Given the description of an element on the screen output the (x, y) to click on. 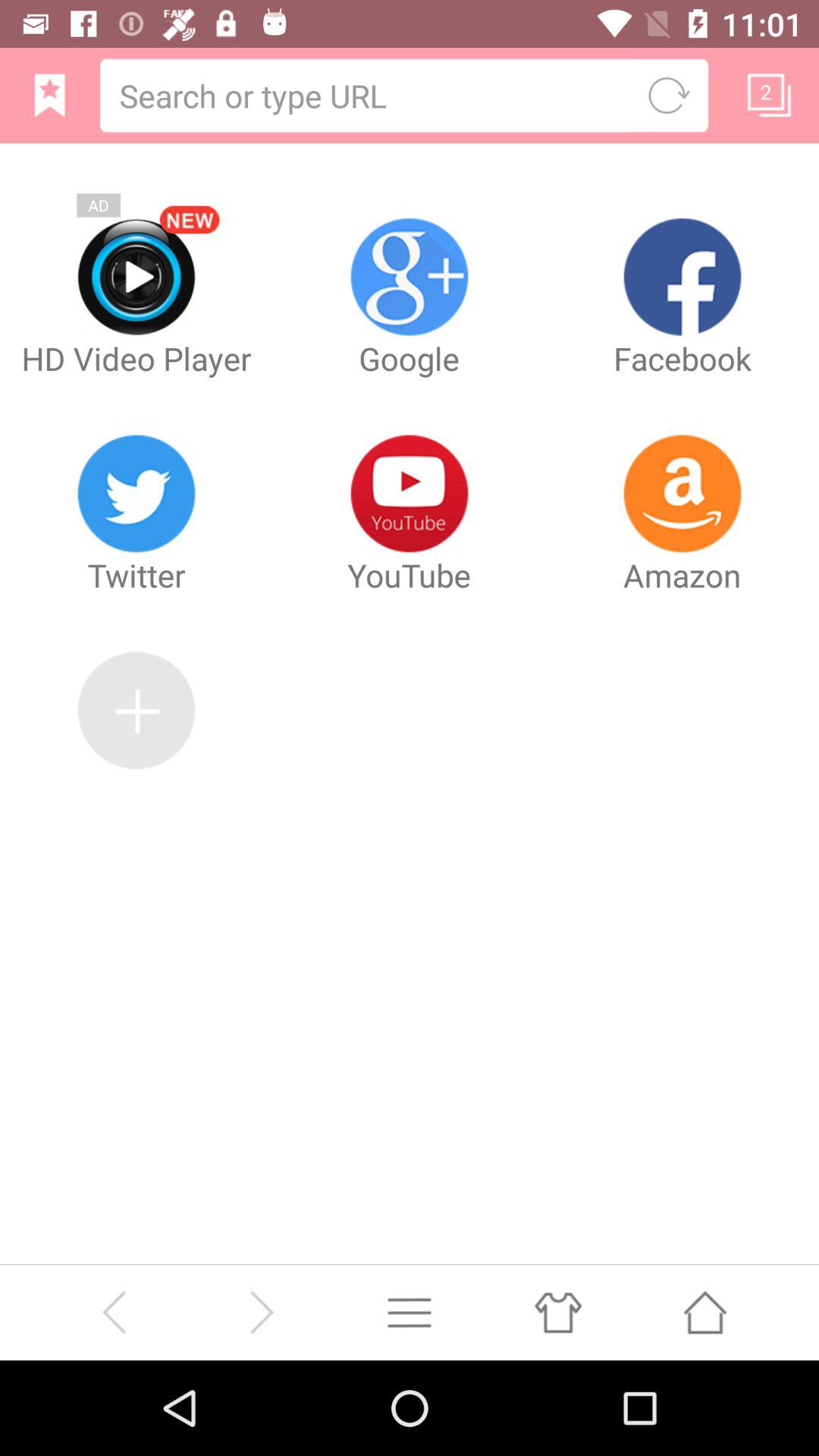
press home button (705, 1312)
